Given the description of an element on the screen output the (x, y) to click on. 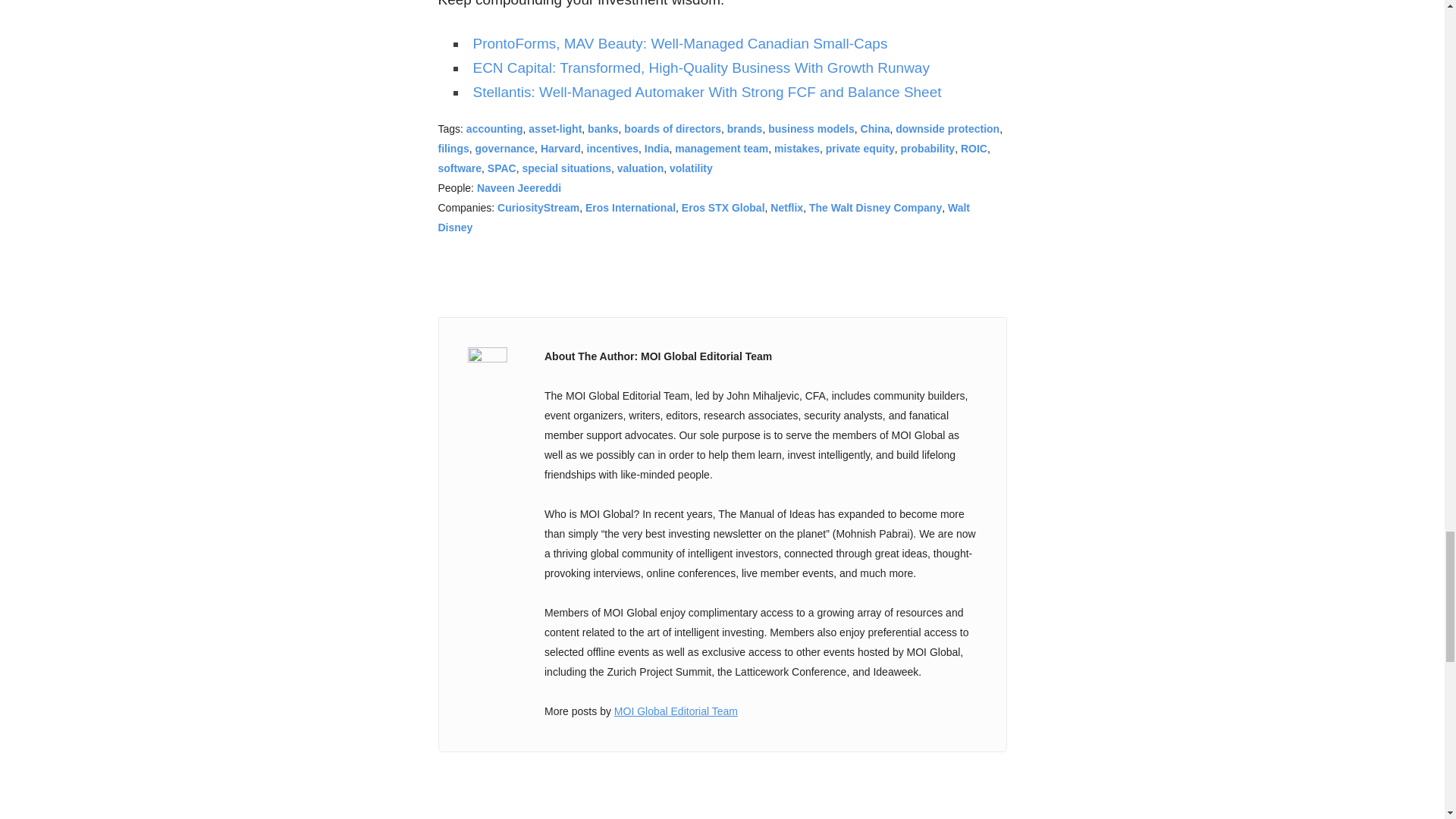
Posts by MOI Global Editorial Team (676, 711)
